Given the description of an element on the screen output the (x, y) to click on. 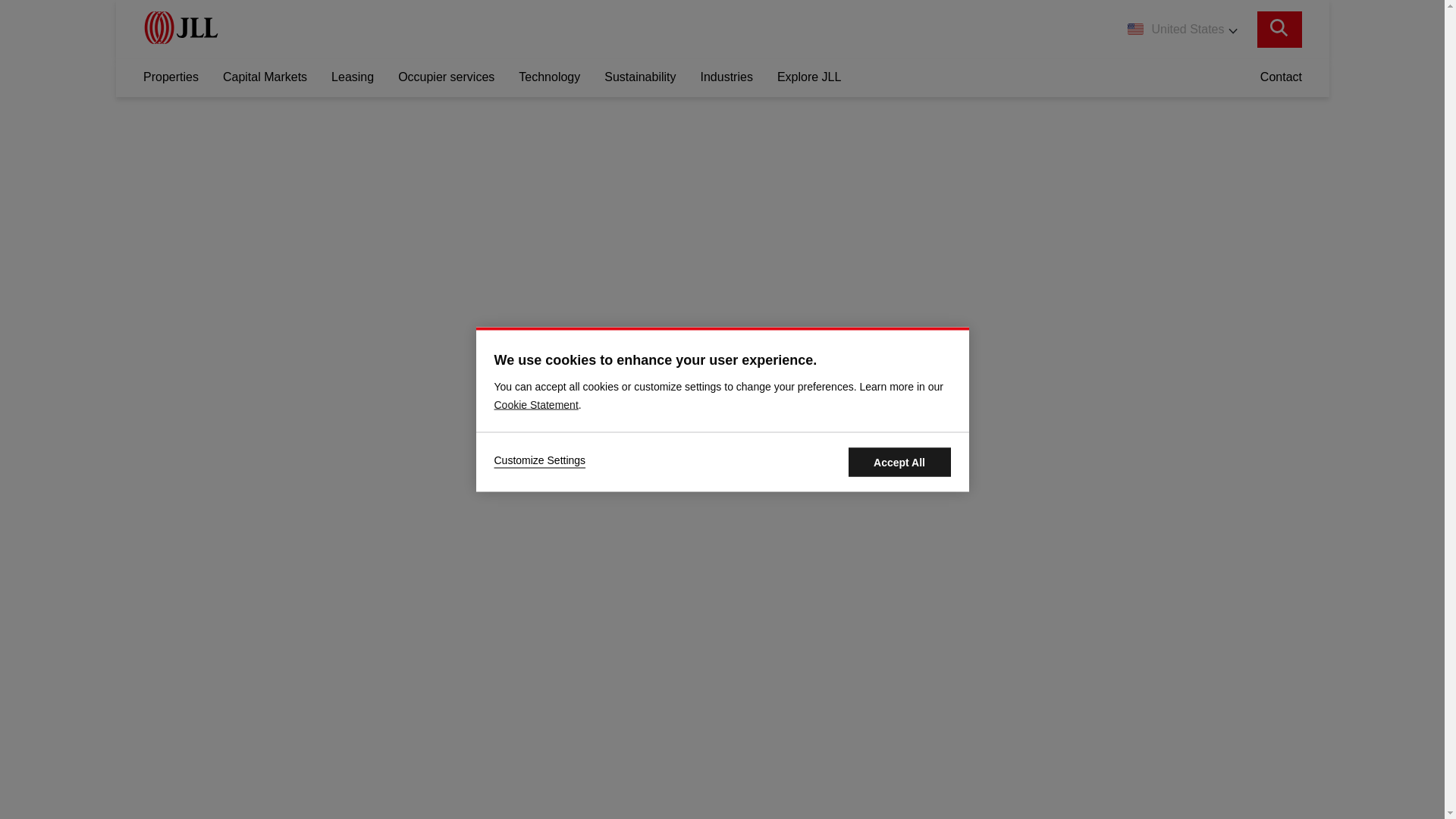
United States (1181, 29)
